Given the description of an element on the screen output the (x, y) to click on. 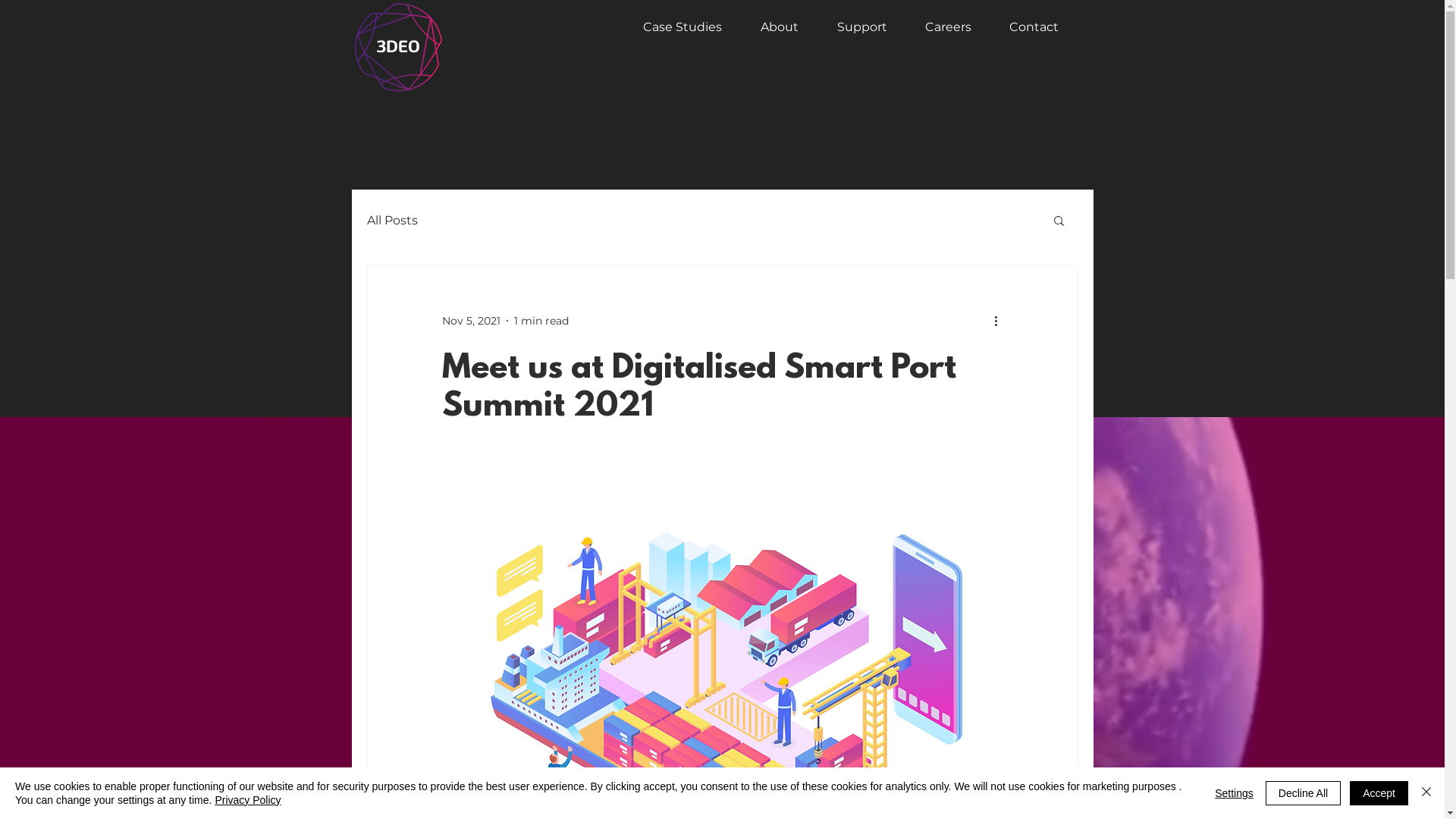
Case Studies Element type: text (674, 27)
Accept Element type: text (1378, 793)
Support Element type: text (853, 27)
All Posts Element type: text (392, 219)
Careers Element type: text (939, 27)
About Element type: text (770, 27)
Privacy Policy Element type: text (247, 799)
Decline All Element type: text (1302, 793)
Contact Element type: text (1026, 27)
